Given the description of an element on the screen output the (x, y) to click on. 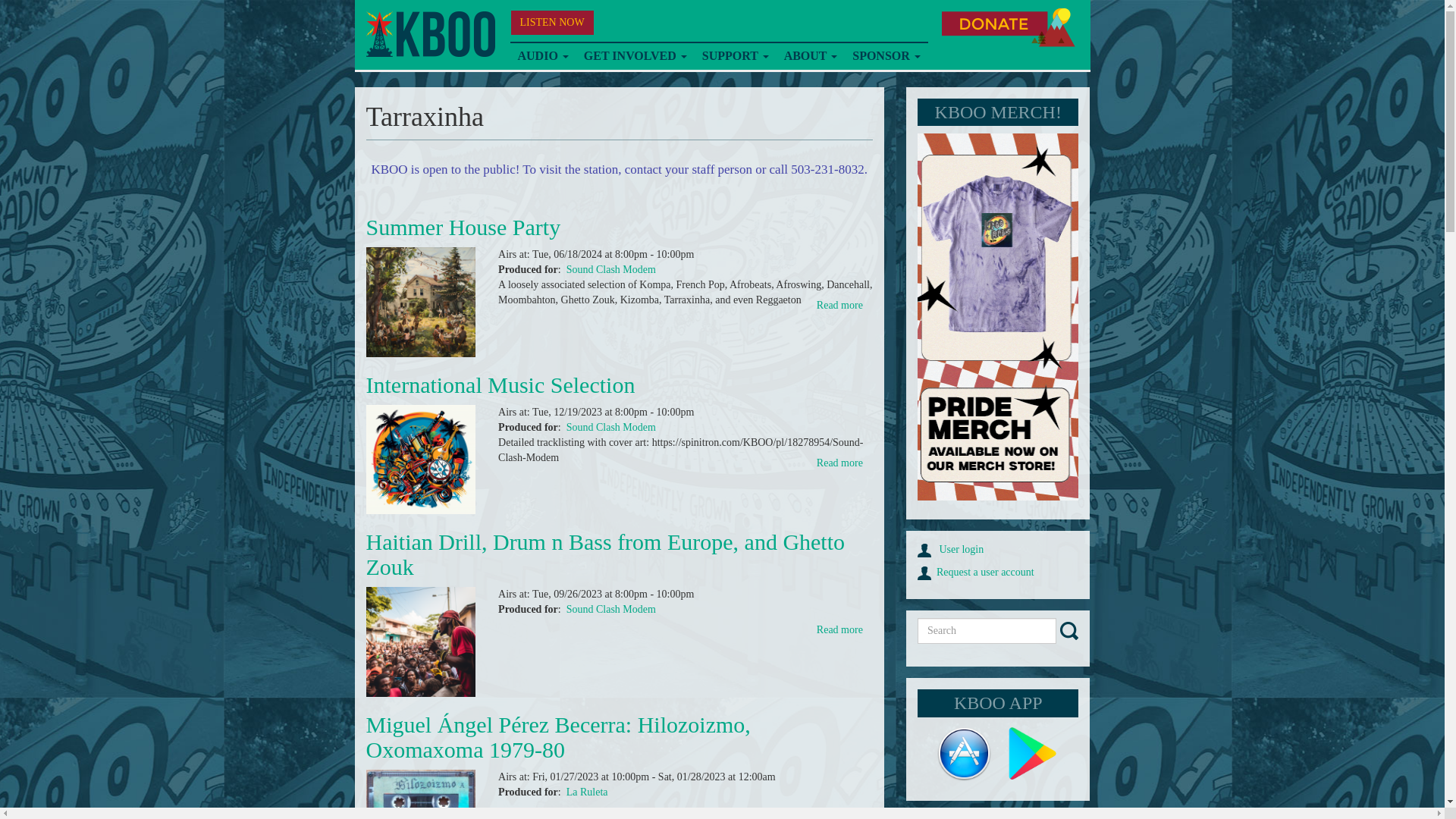
SUPPORT (735, 55)
LISTEN NOW (551, 22)
Home (430, 34)
GET INVOLVED (635, 55)
ABOUT (810, 55)
SPONSOR (886, 55)
AUDIO (542, 55)
